Given the description of an element on the screen output the (x, y) to click on. 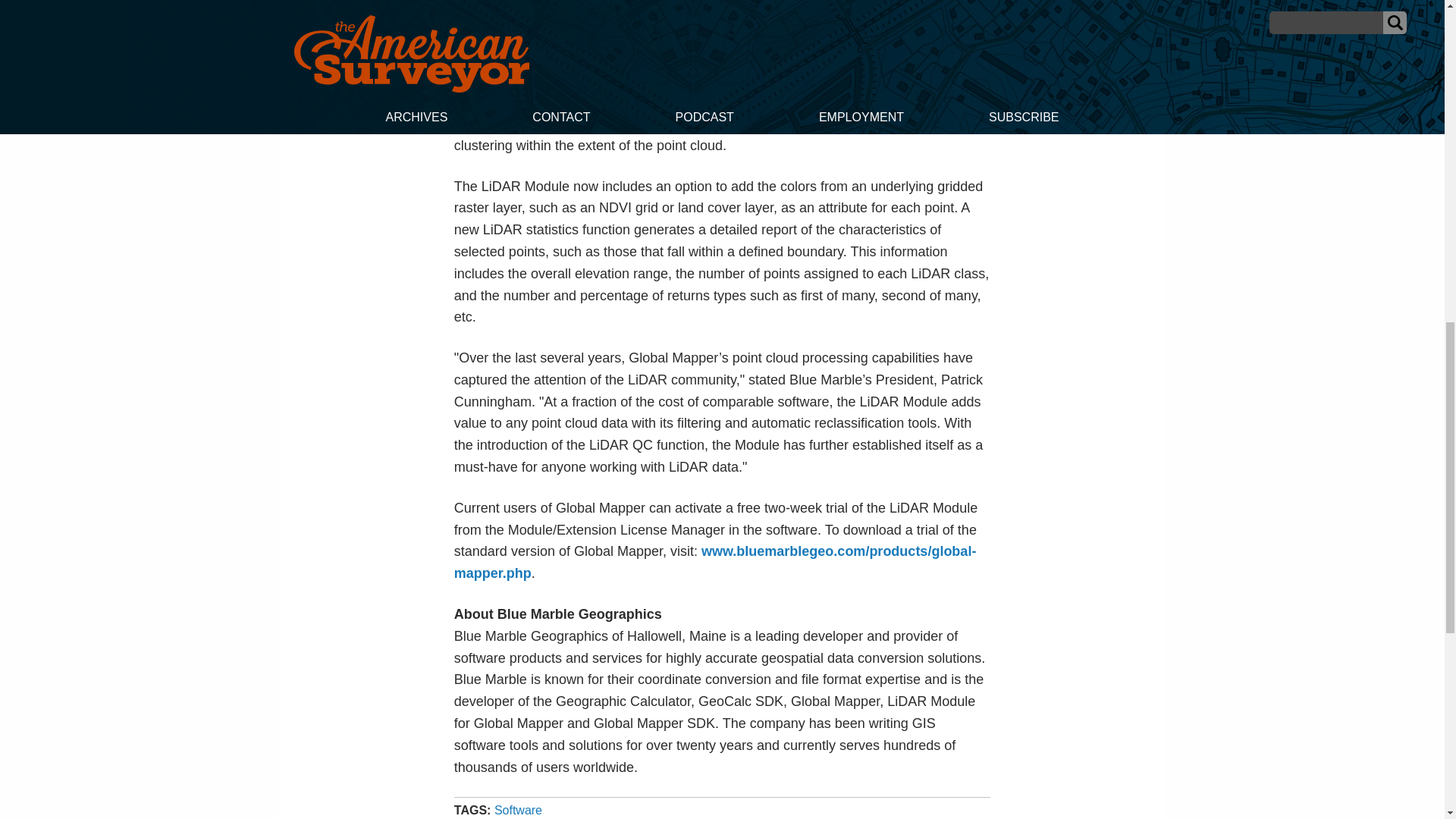
Software (518, 809)
